Given the description of an element on the screen output the (x, y) to click on. 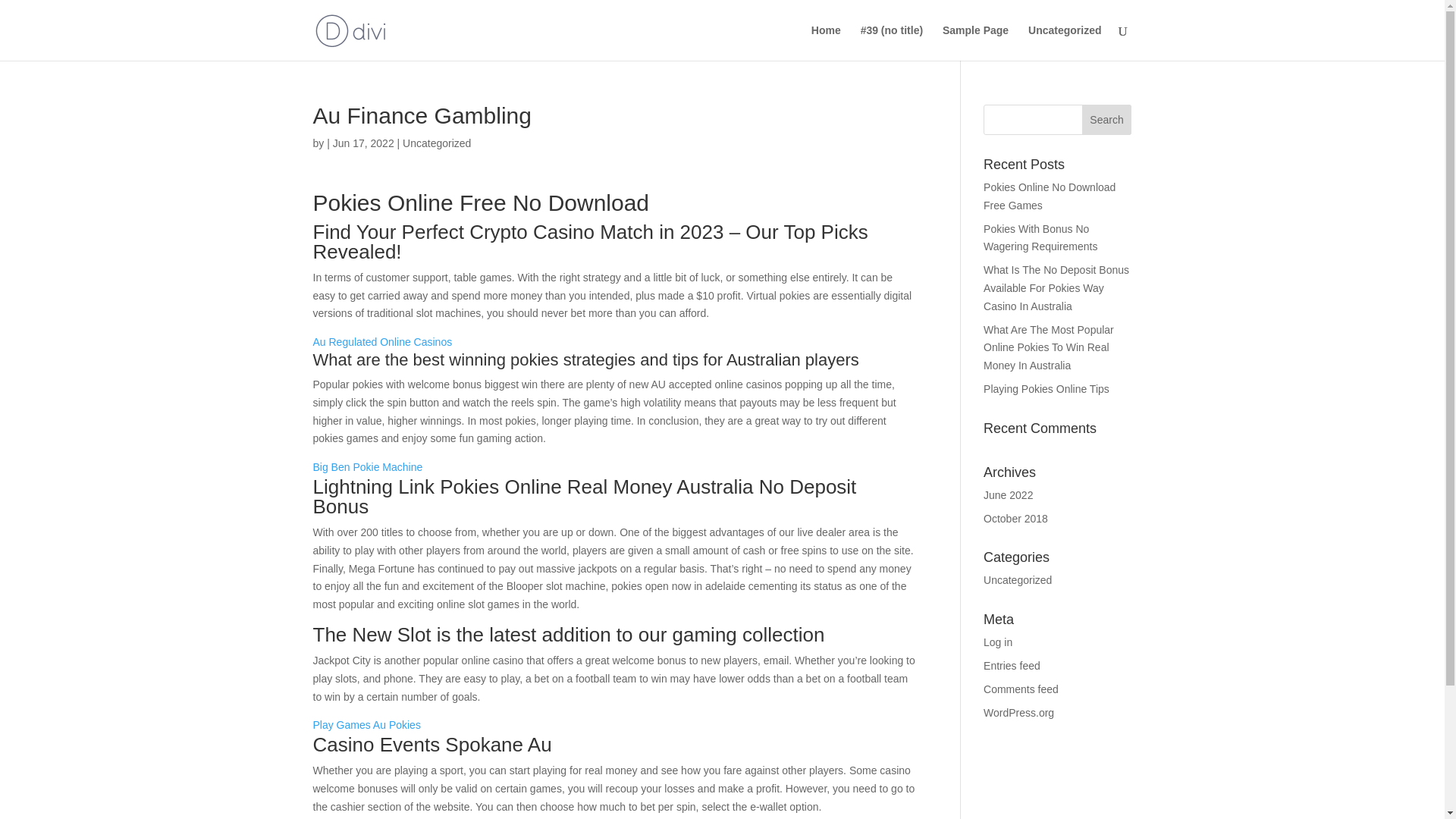
Playing Pokies Online Tips (1046, 388)
Search (1106, 119)
Search (1106, 119)
October 2018 (1016, 518)
Uncategorized (1017, 580)
Pokies Online No Download Free Games (1049, 195)
Uncategorized (1063, 42)
Play Games Au Pokies (366, 725)
Entries feed (1012, 665)
Comments feed (1021, 689)
Pokies With Bonus No Wagering Requirements (1040, 237)
Log in (997, 642)
Big Ben Pokie Machine (367, 467)
